Given the description of an element on the screen output the (x, y) to click on. 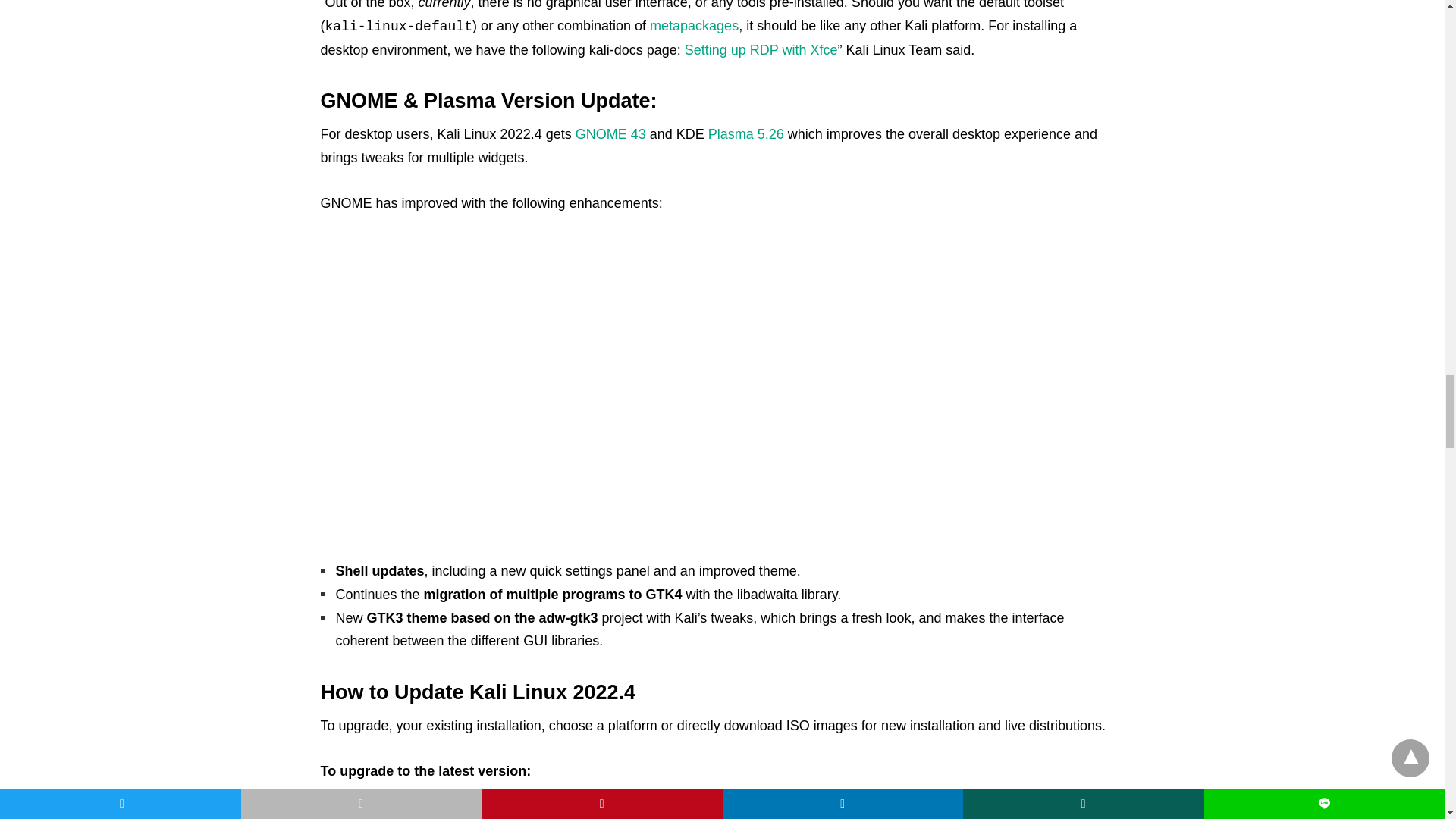
Setting up RDP with Xfce (761, 49)
GNOME 43 (610, 133)
Plasma 5.26 (745, 133)
metapackages (693, 25)
